Given the description of an element on the screen output the (x, y) to click on. 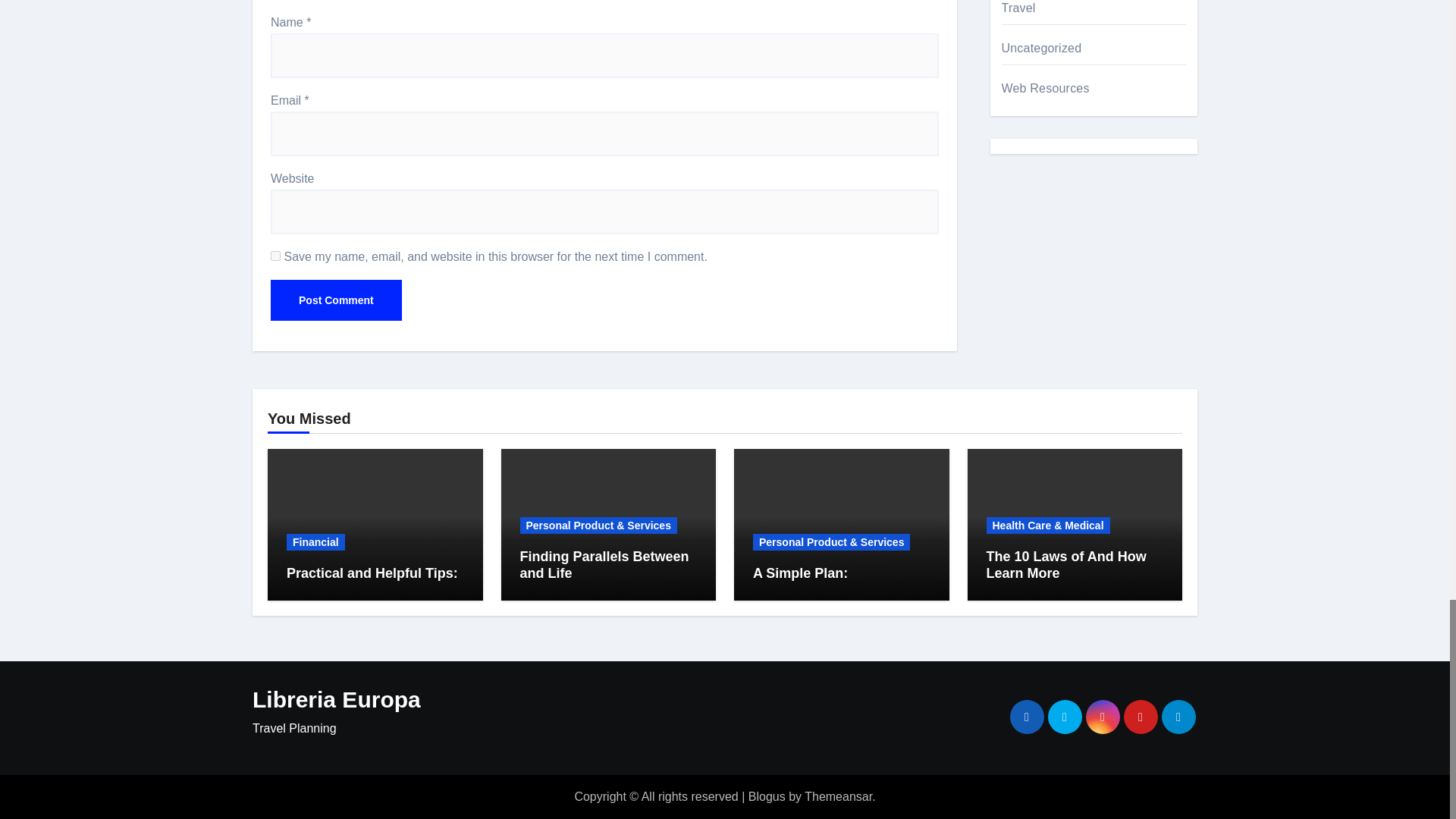
Permalink to: A Simple Plan: (799, 572)
yes (275, 255)
Permalink to: The 10 Laws of  And How Learn More (1065, 564)
Permalink to: Practical and Helpful Tips: (372, 572)
Post Comment (335, 300)
Permalink to: Finding Parallels Between  and Life (603, 564)
